Given the description of an element on the screen output the (x, y) to click on. 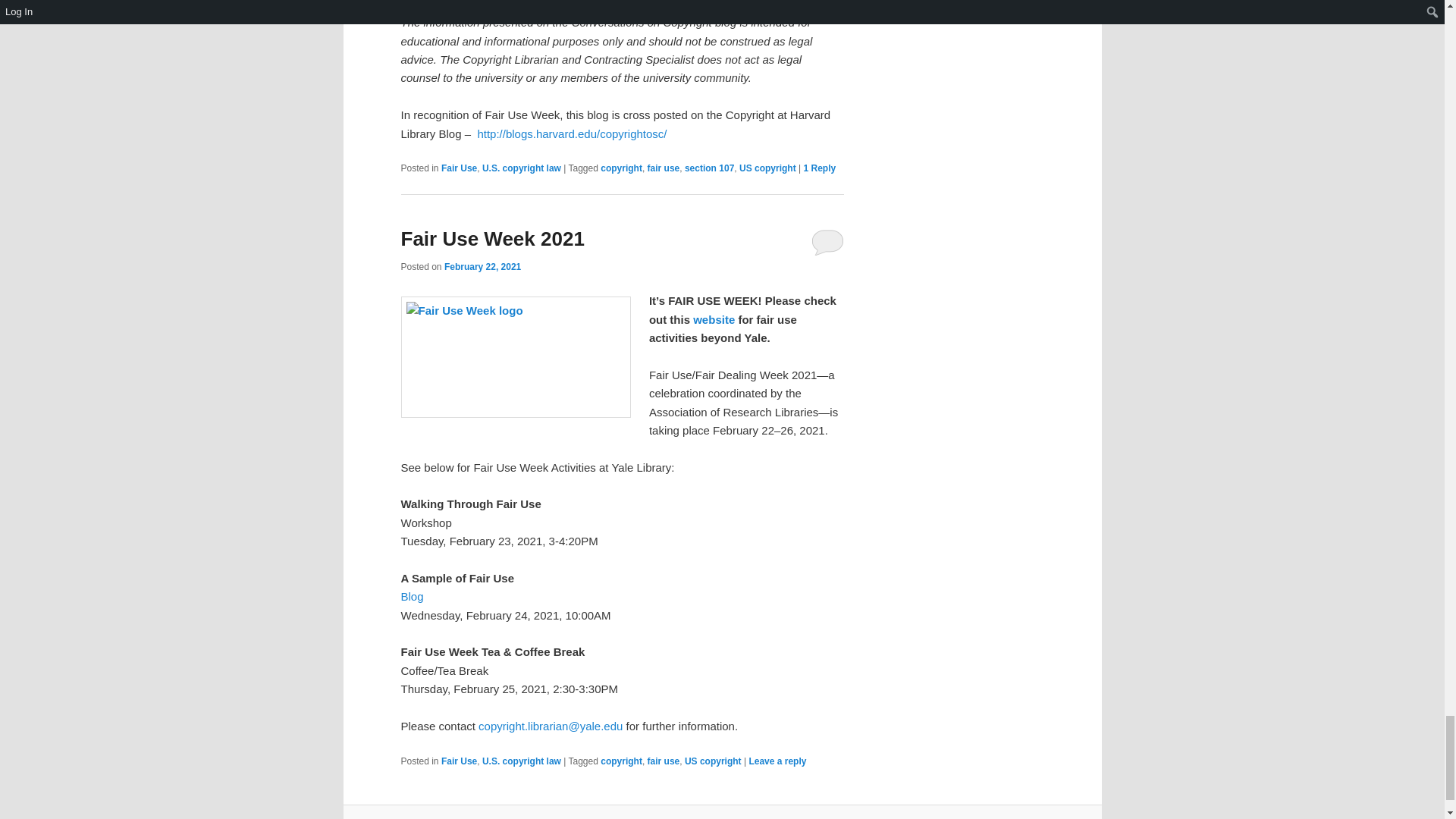
8:00 am (482, 266)
